Given the description of an element on the screen output the (x, y) to click on. 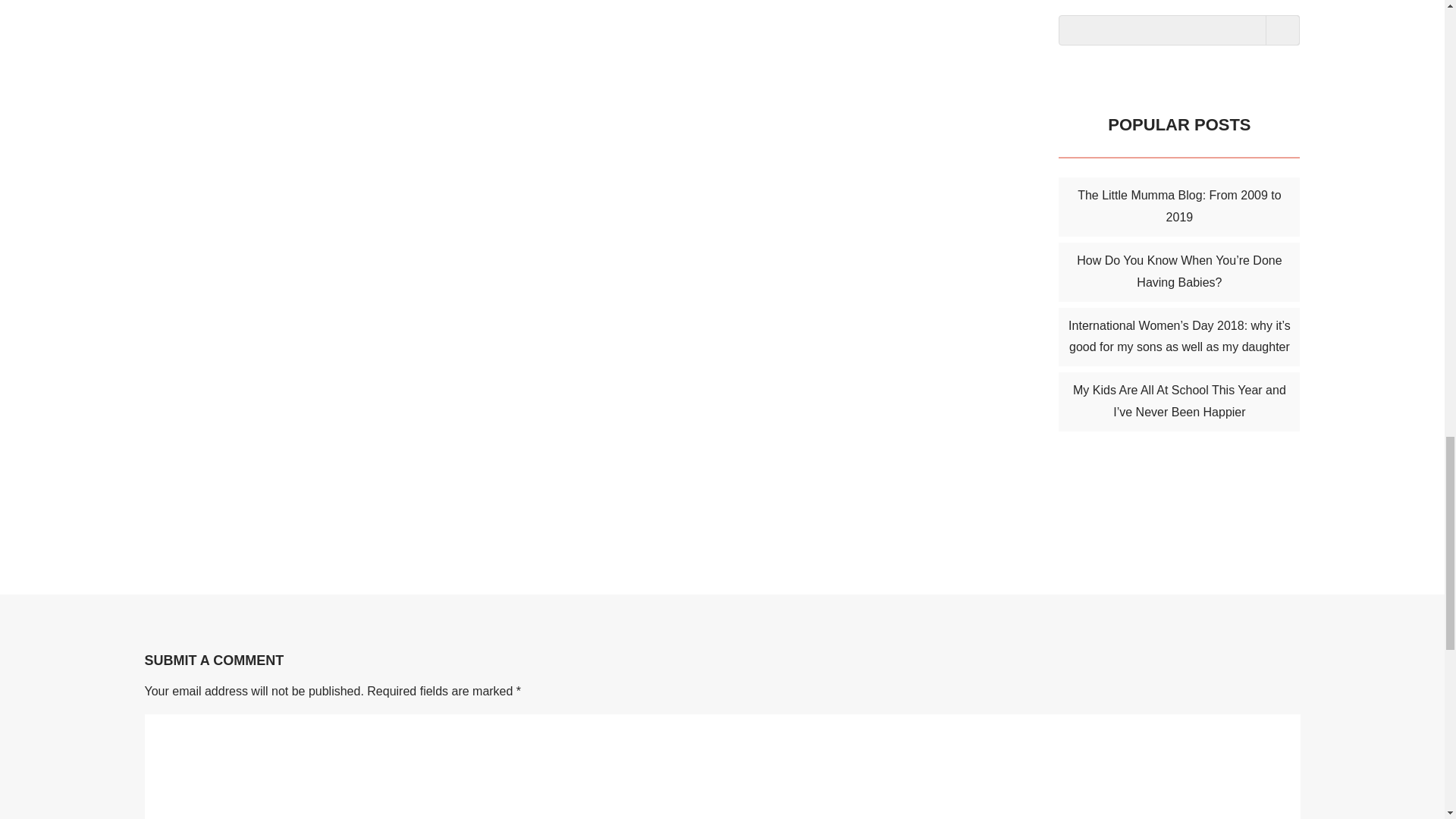
Search (1282, 30)
Search (1282, 30)
The Little Mumma Blog: From 2009 to 2019 (1179, 206)
